Given the description of an element on the screen output the (x, y) to click on. 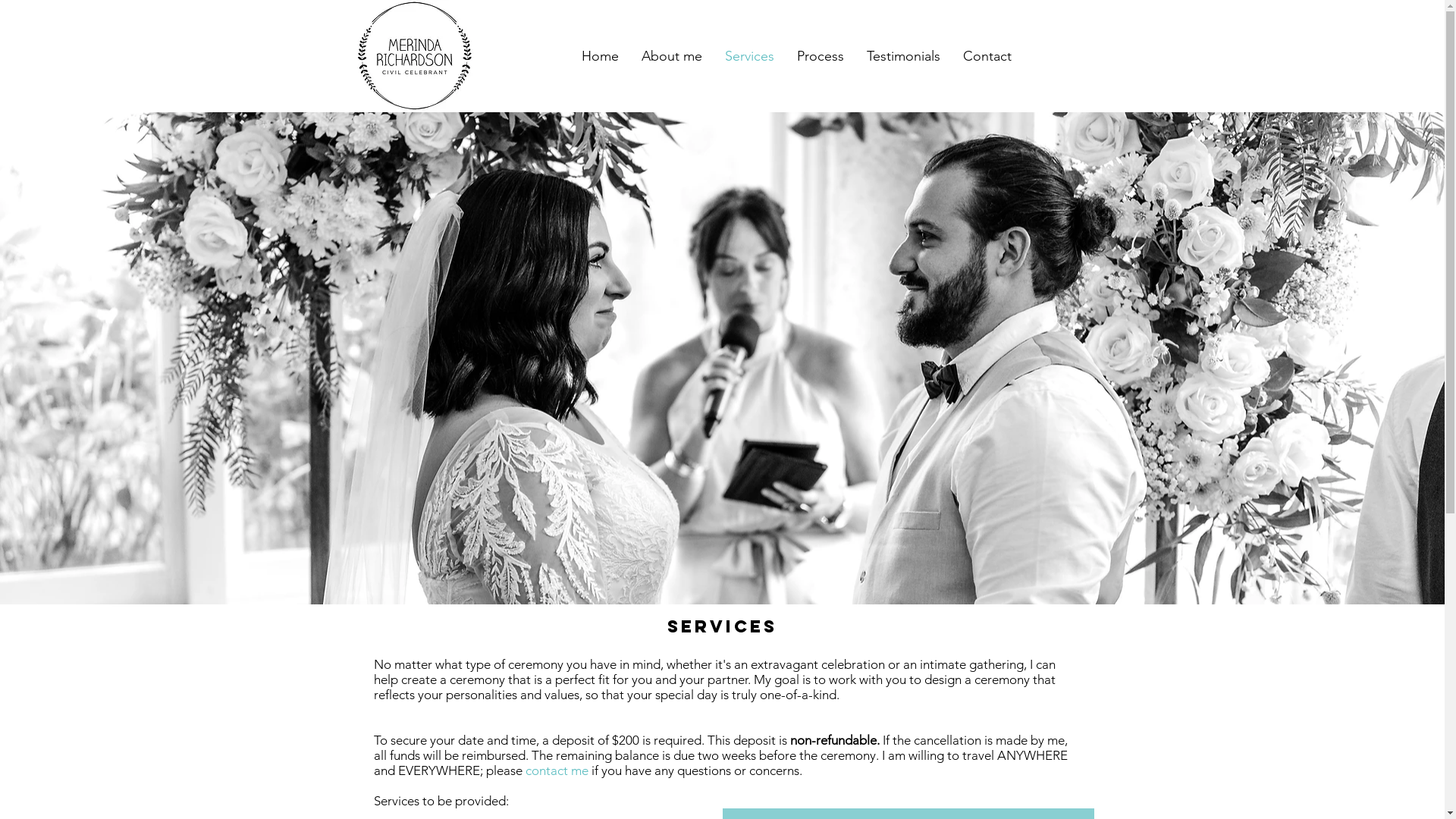
Services Element type: text (748, 56)
About me Element type: text (670, 56)
Process Element type: text (820, 56)
Home Element type: text (600, 56)
Testimonials Element type: text (903, 56)
Contact Element type: text (986, 56)
